Given the description of an element on the screen output the (x, y) to click on. 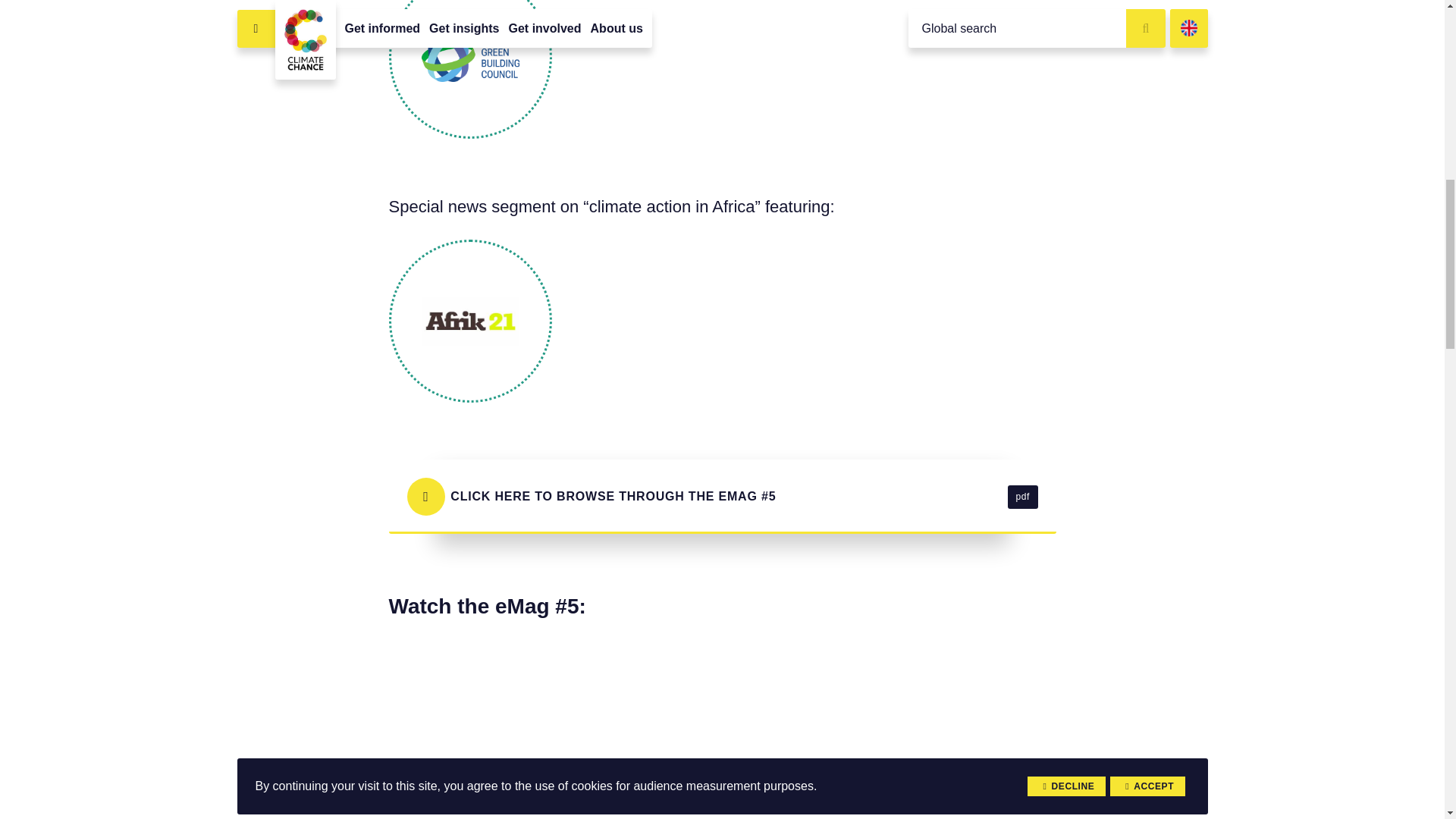
YouTube video player (721, 728)
